Given the description of an element on the screen output the (x, y) to click on. 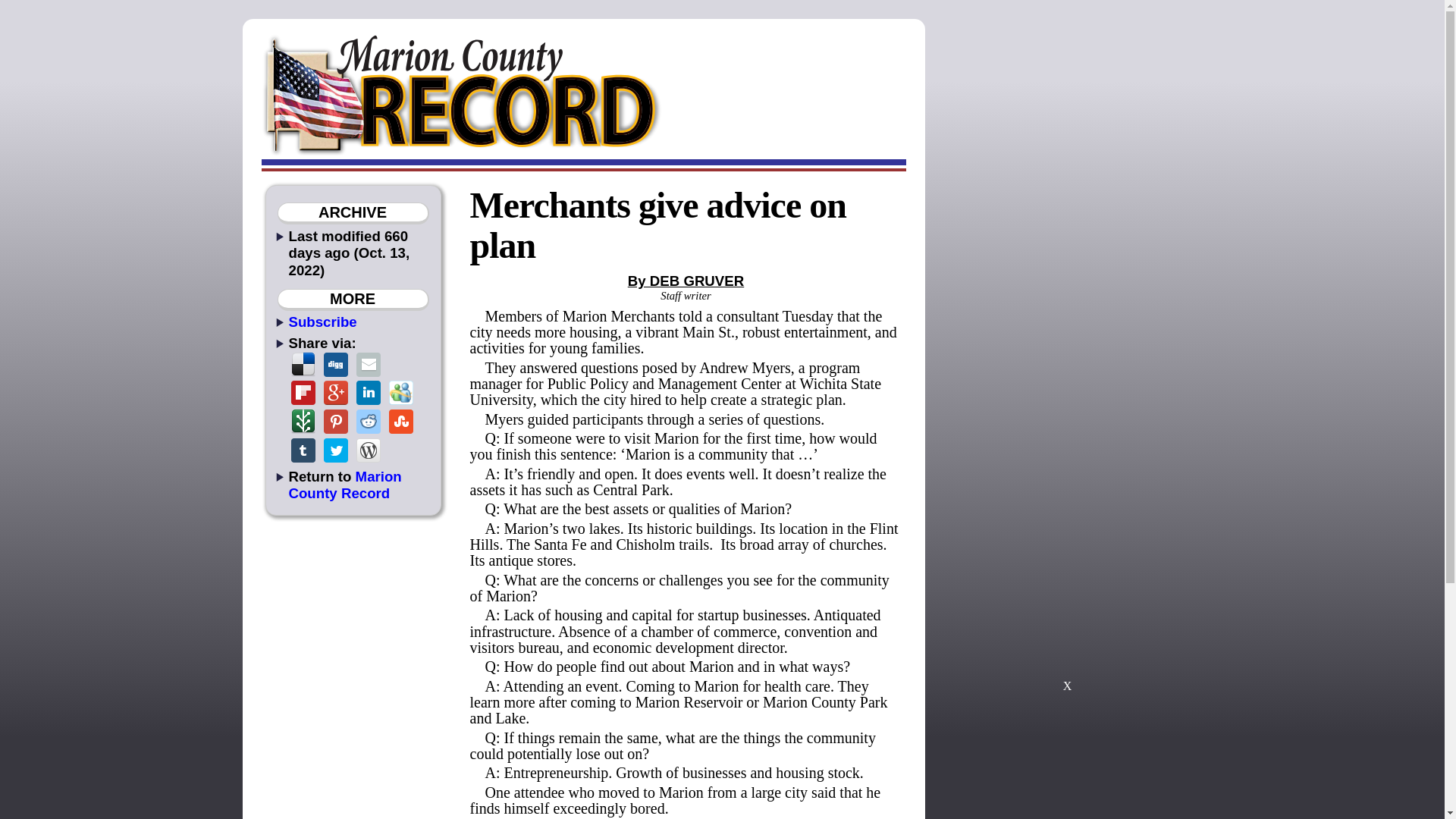
Subscribe (322, 321)
Advertisement (1067, 591)
Marion County Record (344, 484)
